Given the description of an element on the screen output the (x, y) to click on. 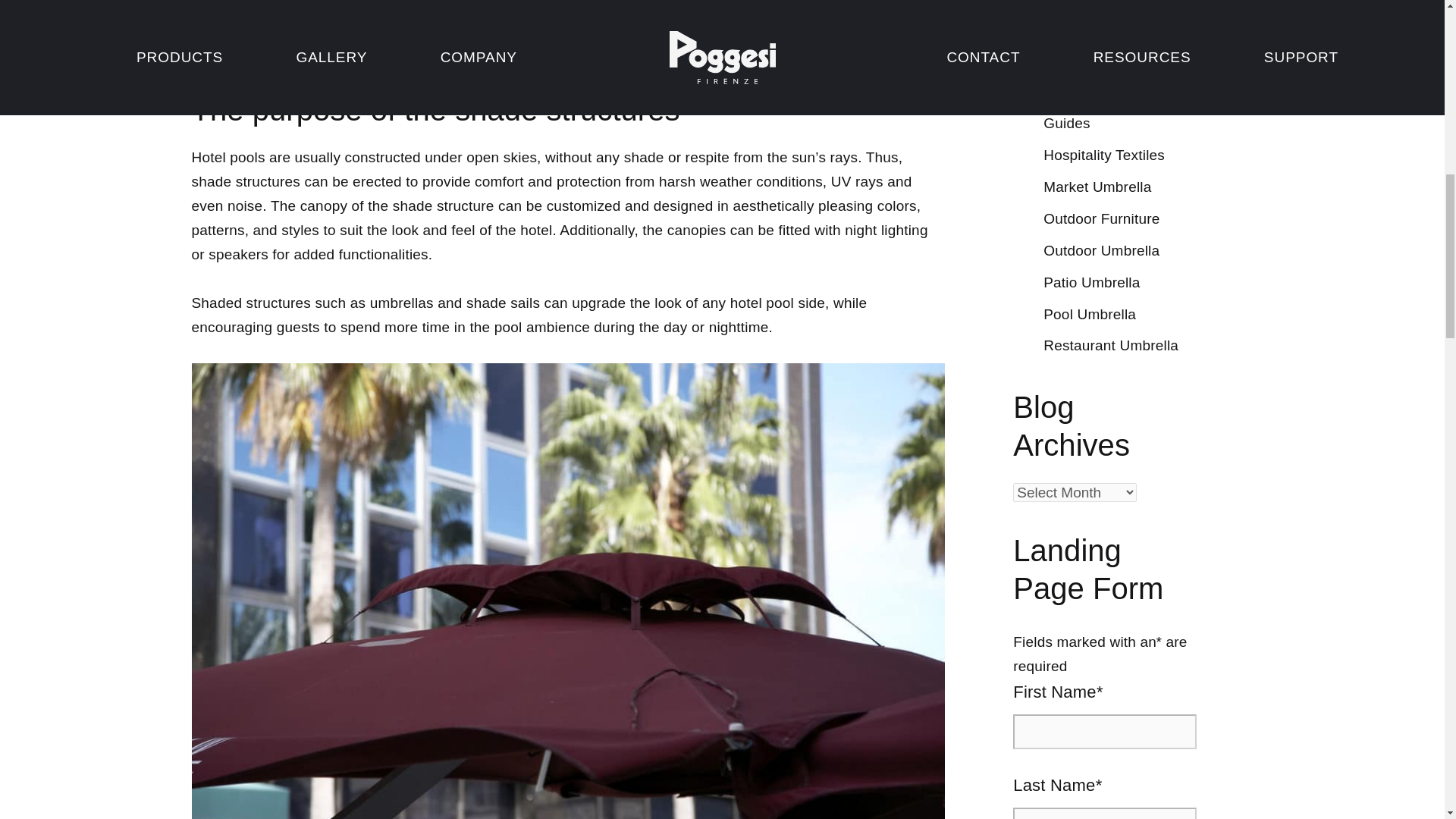
Hospitality Textiles (1103, 155)
Guides (1066, 123)
Outdoor Umbrella (1100, 250)
Outdoor Furniture (1100, 218)
General (1069, 91)
Gazebos (1072, 59)
Cantilever Umbrella (1107, 2)
Market Umbrella (1097, 187)
Commercial Umbrella (1114, 27)
